Given the description of an element on the screen output the (x, y) to click on. 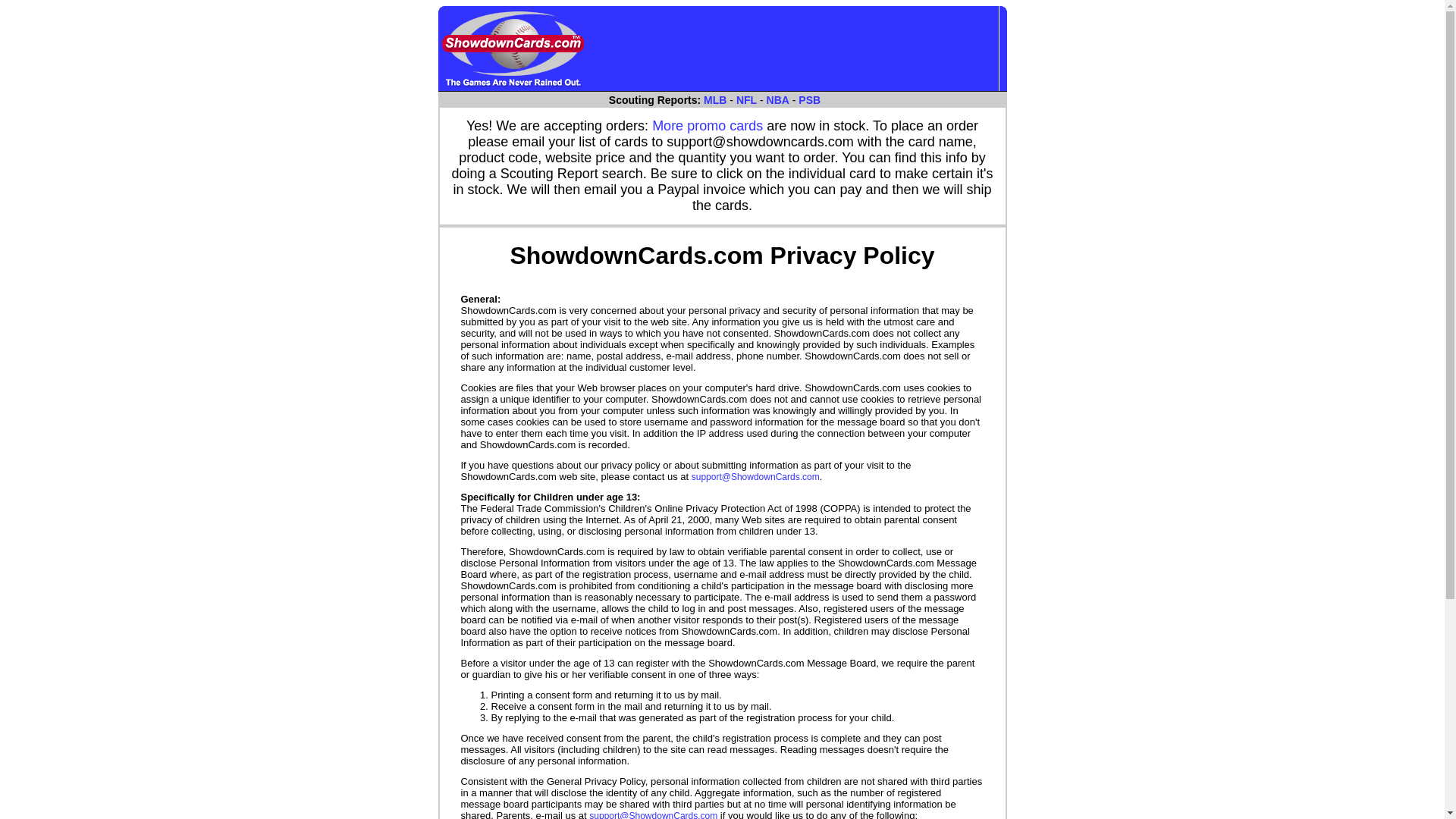
More promo cards (707, 125)
MLB (714, 100)
NFL (746, 100)
PSB (809, 100)
NBA (778, 100)
